Given the description of an element on the screen output the (x, y) to click on. 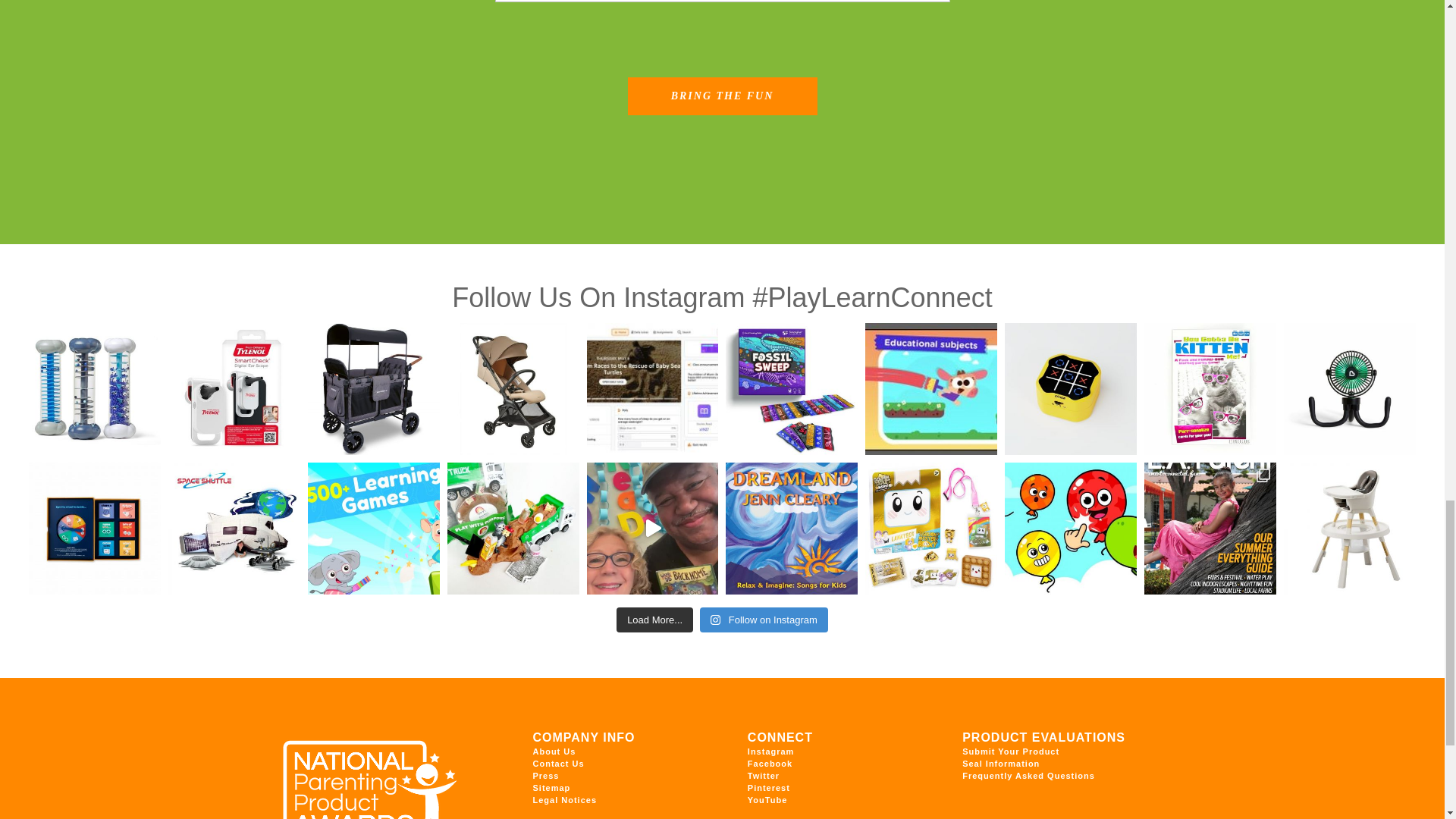
Bring The Fun (721, 95)
